Given the description of an element on the screen output the (x, y) to click on. 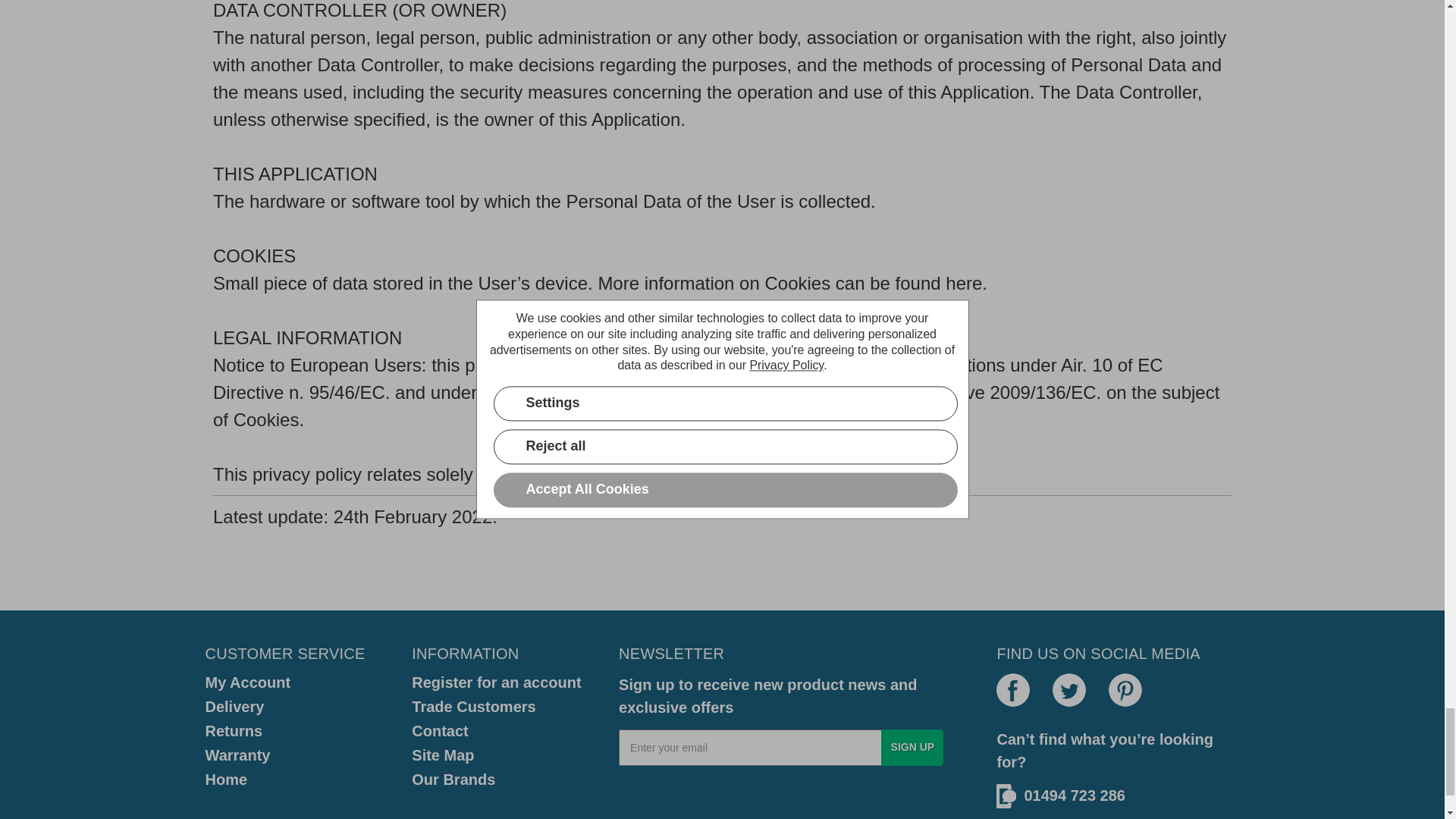
Facebook (1012, 689)
Twitter (1069, 689)
Pinterest (1124, 689)
Sign up (911, 747)
